Given the description of an element on the screen output the (x, y) to click on. 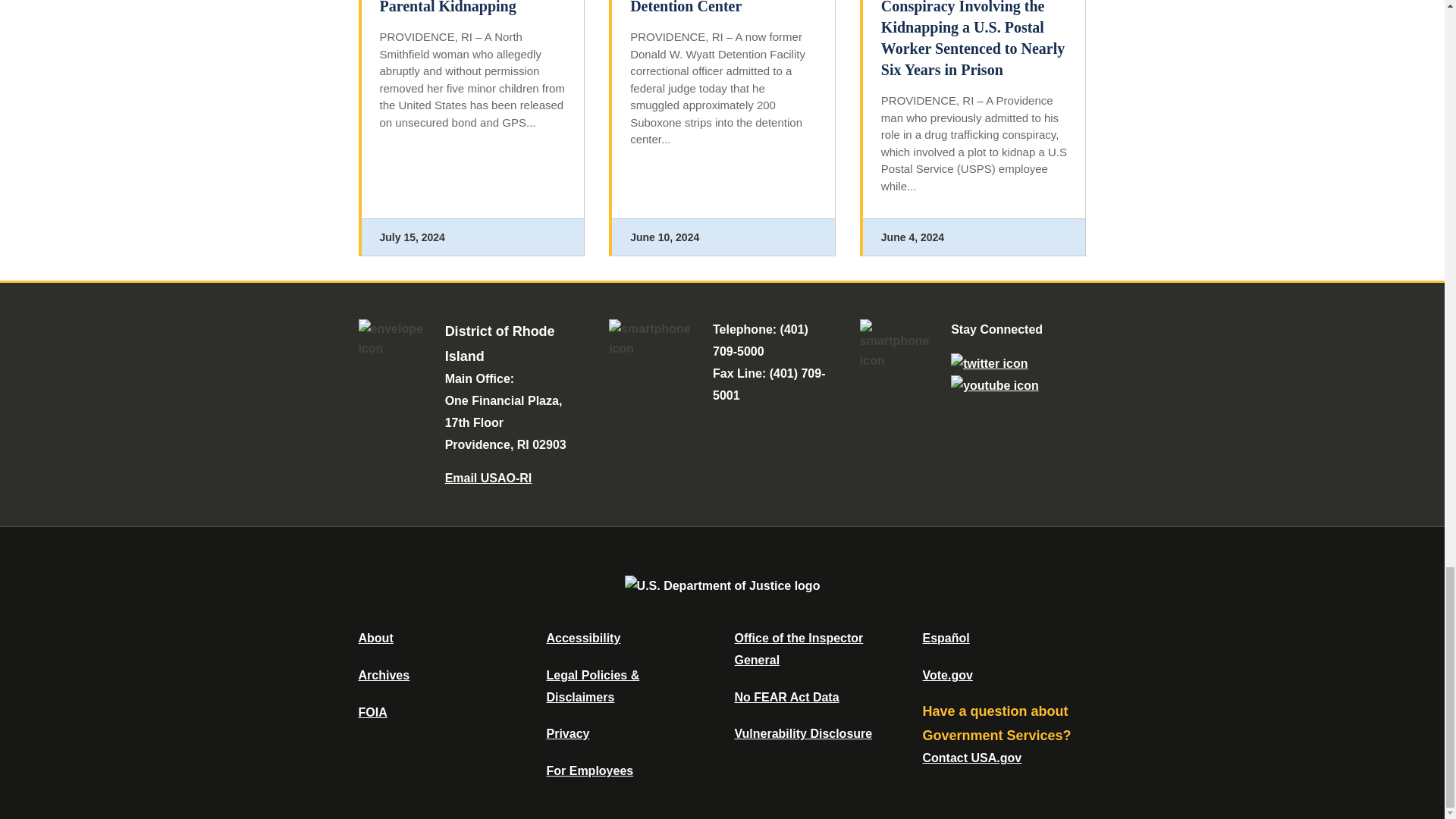
About DOJ (375, 637)
Department of Justice Archive (383, 675)
Legal Policies and Disclaimers (592, 686)
For Employees (589, 770)
Accessibility Statement (583, 637)
Office of Information Policy (372, 712)
Data Posted Pursuant To The No Fear Act (785, 697)
